Given the description of an element on the screen output the (x, y) to click on. 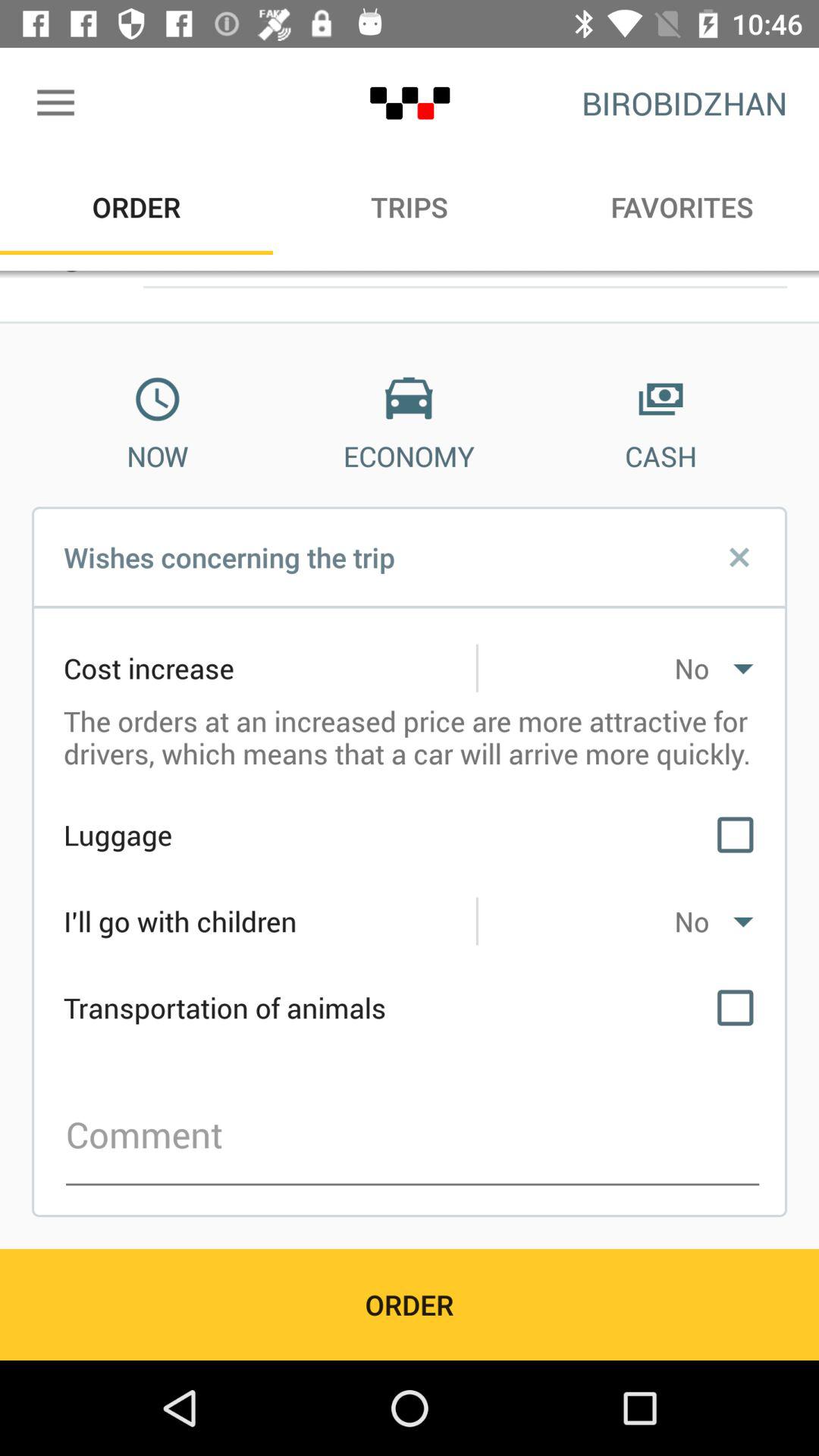
flip until the birobidzhan item (684, 102)
